Given the description of an element on the screen output the (x, y) to click on. 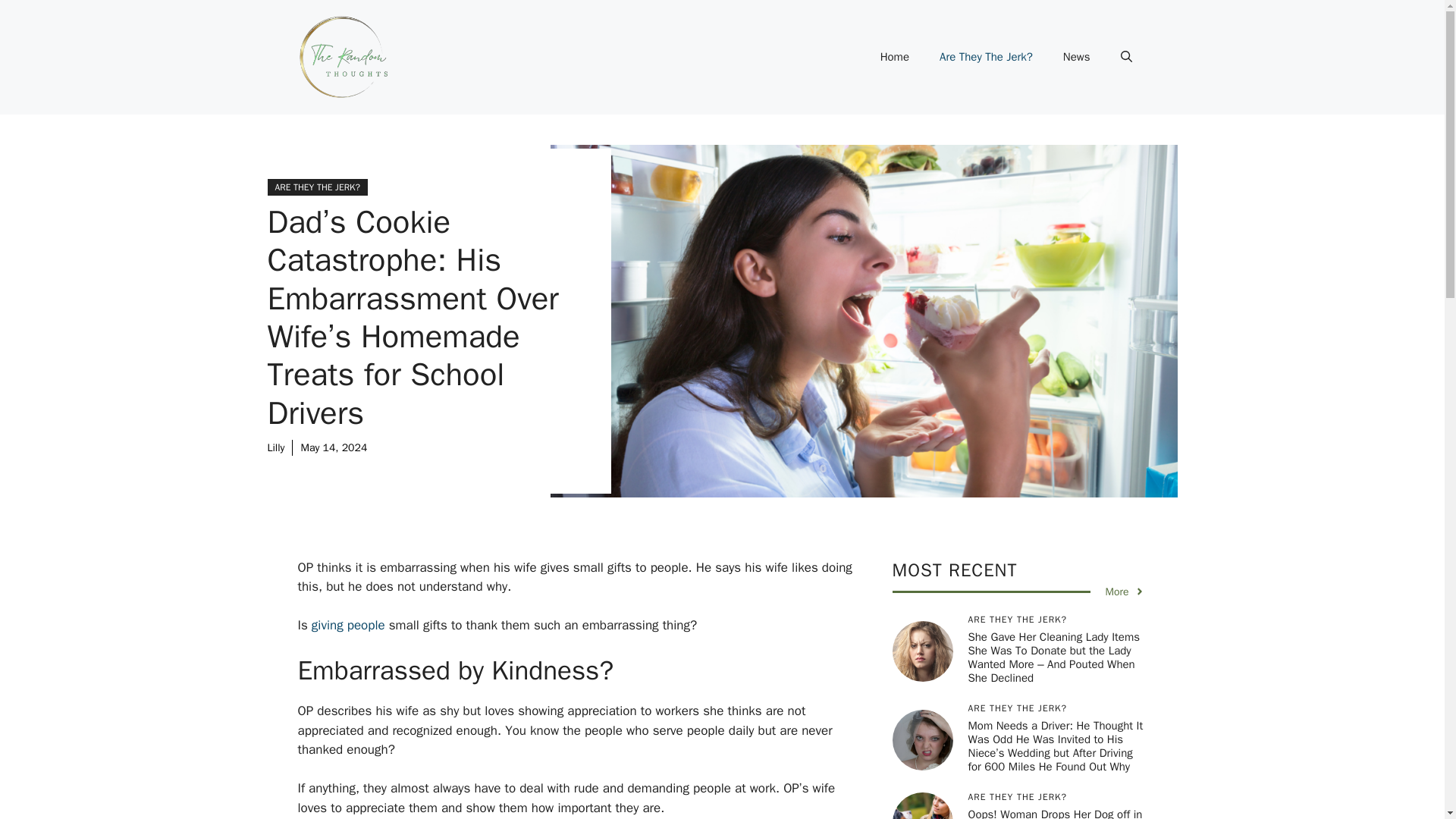
giving people (348, 625)
Home (894, 56)
ARE THEY THE JERK? (316, 187)
News (1076, 56)
Lilly (274, 447)
More (1124, 591)
Are They The Jerk? (986, 56)
